Given the description of an element on the screen output the (x, y) to click on. 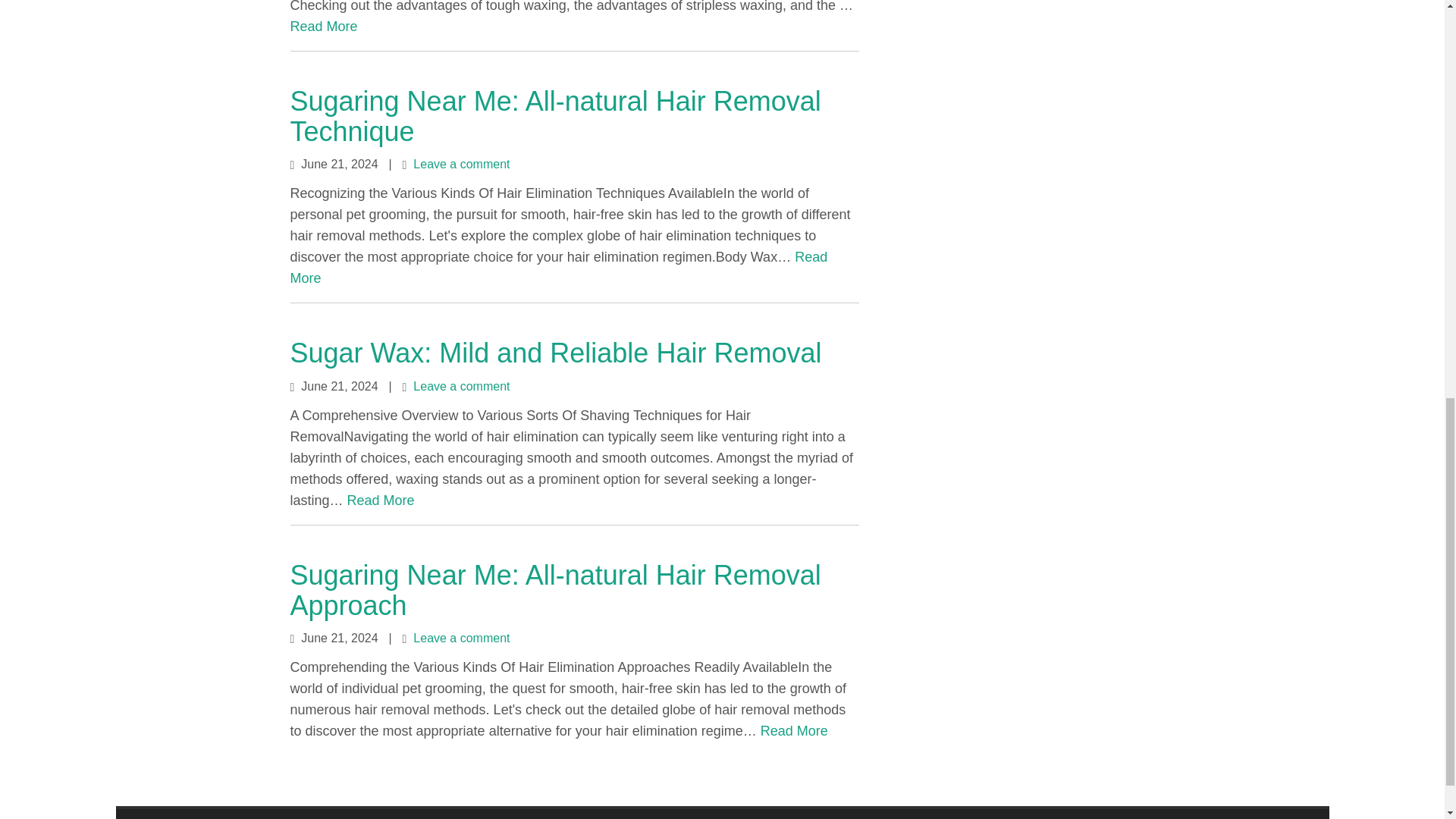
Leave a comment (461, 164)
Read More (794, 730)
Read More (380, 500)
Read More (322, 26)
Read More (558, 267)
Sugaring Near Me: All-natural Hair Removal Technique (555, 116)
Sugaring Near Me: All-natural Hair Removal Approach (555, 589)
Leave a comment (461, 637)
Leave a comment (461, 386)
Sugar Wax: Mild and Reliable Hair Removal (555, 352)
